Given the description of an element on the screen output the (x, y) to click on. 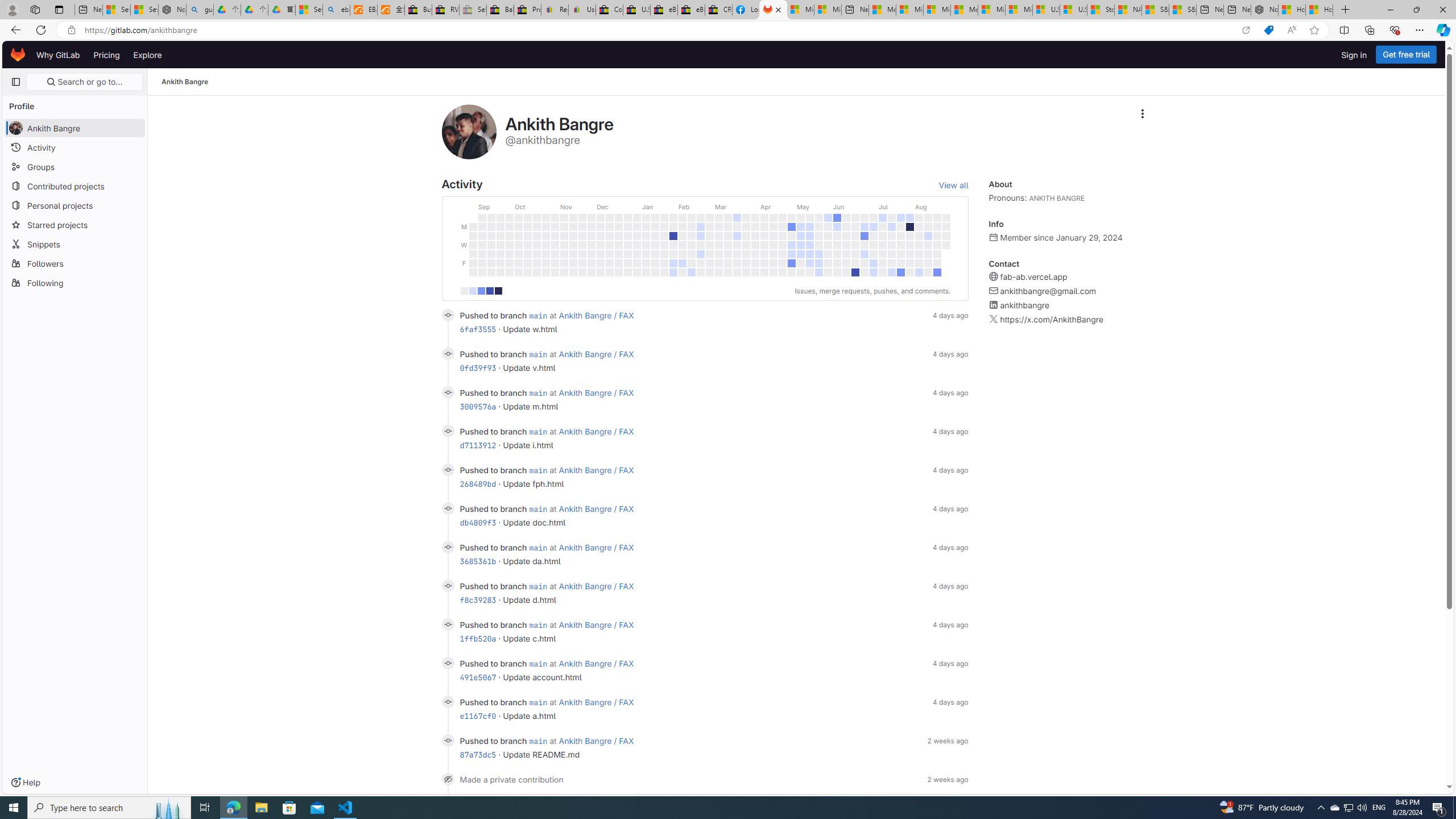
Open in app (1245, 29)
Get free trial (1406, 54)
Starred projects (74, 224)
